Given the description of an element on the screen output the (x, y) to click on. 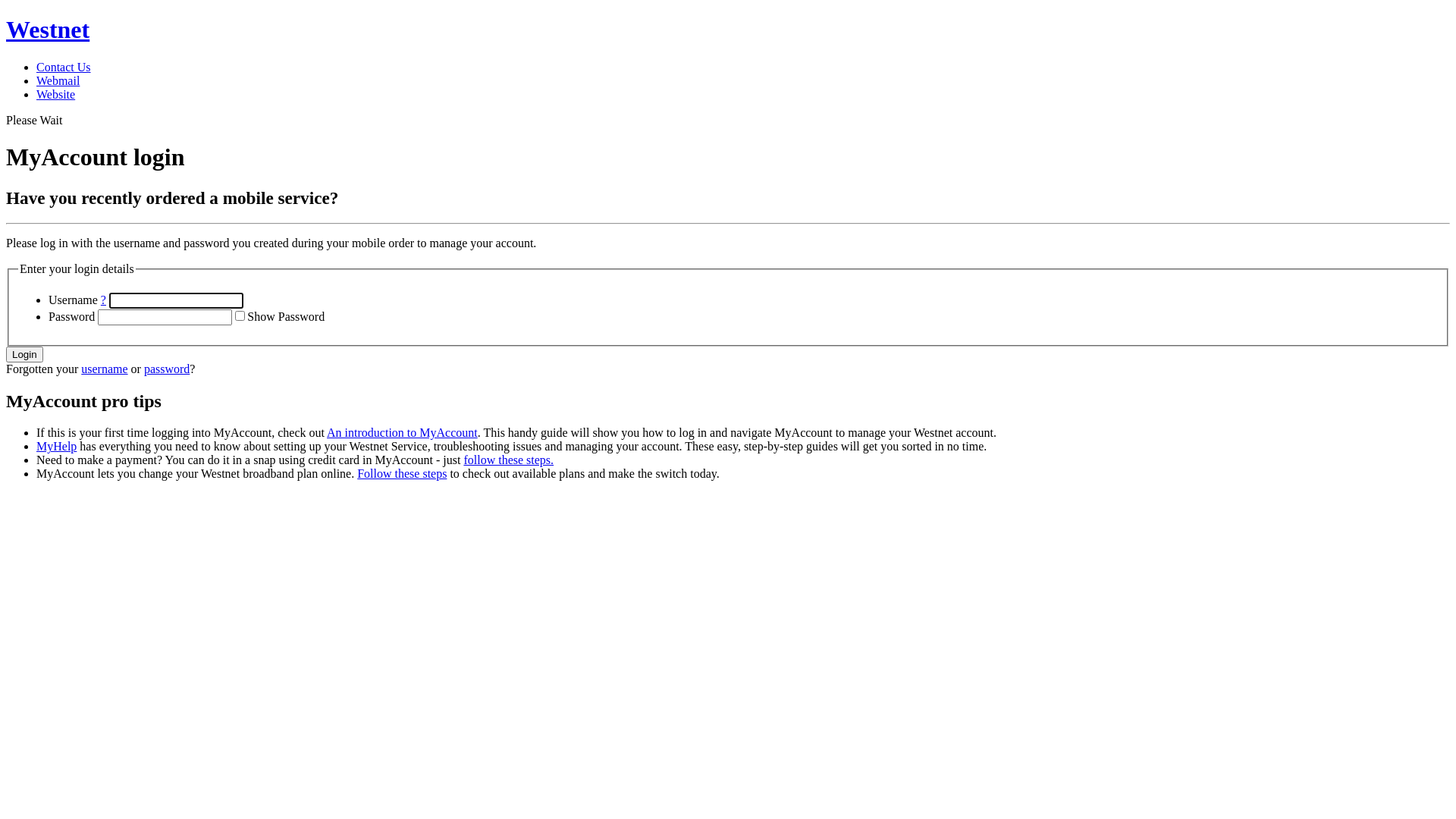
An introduction to MyAccount Element type: text (401, 432)
Contact Us Element type: text (63, 66)
Login Element type: text (24, 354)
Westnet Element type: text (727, 29)
MyHelp Element type: text (56, 445)
password Element type: text (166, 368)
Webmail Element type: text (57, 80)
Website Element type: text (55, 93)
Follow these steps Element type: text (401, 473)
follow these steps. Element type: text (508, 459)
username Element type: text (104, 368)
? Element type: text (103, 299)
